Given the description of an element on the screen output the (x, y) to click on. 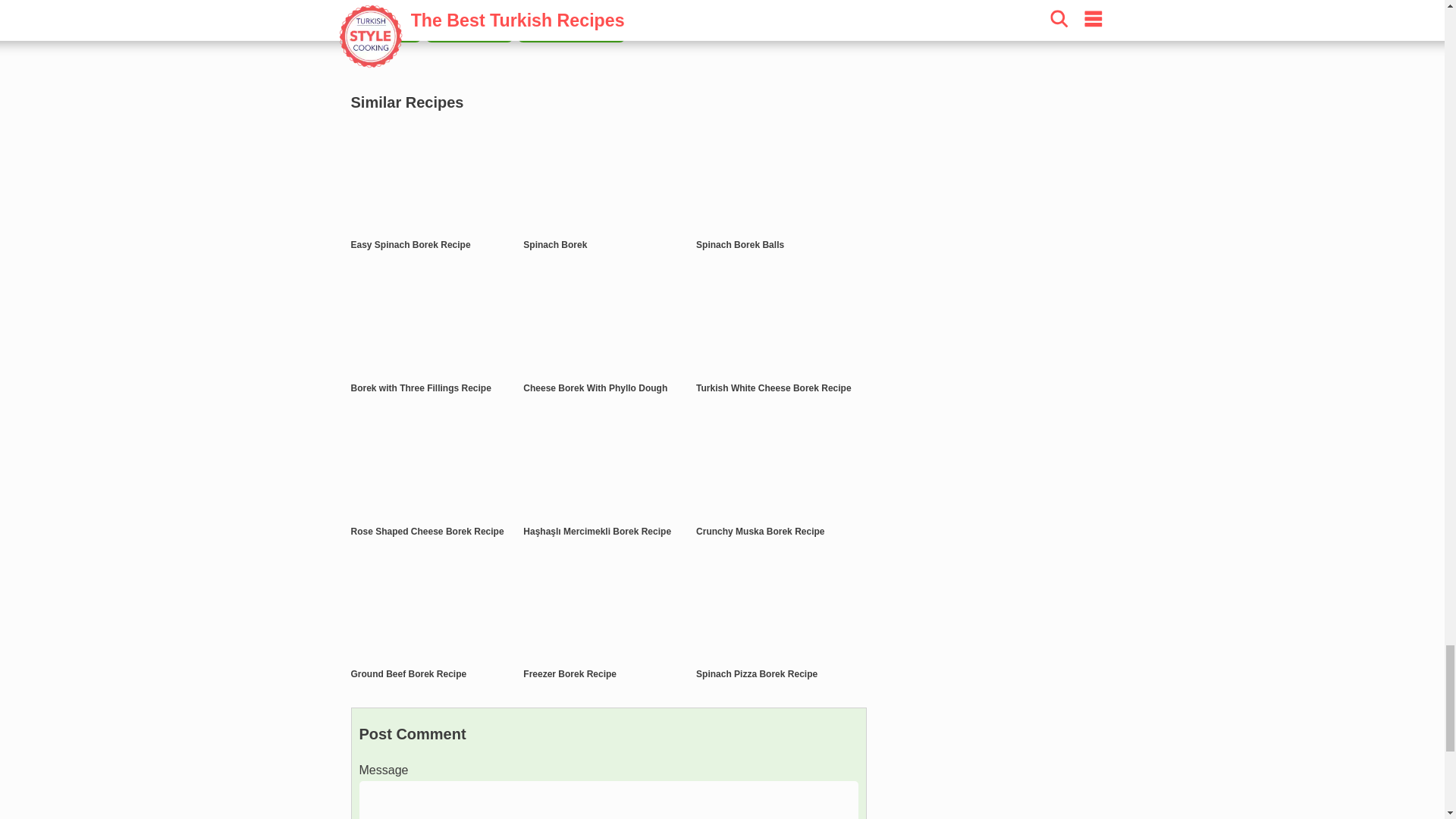
spinach recipes (469, 31)
Ground Beef Borek Recipe (407, 674)
Turkish White Cheese Borek Recipe (773, 388)
turkish borek recipe (571, 31)
Freezer Borek Recipe (568, 674)
Borek with Three Fillings Recipe (420, 388)
Easy Spinach Borek Recipe (410, 244)
Spinach Borek Balls (739, 244)
Spinach Pizza Borek Recipe (755, 674)
borek recipe (385, 31)
Rose Shaped Cheese Borek Recipe (426, 531)
Cheese Borek With Phyllo Dough (594, 388)
Crunchy Muska Borek Recipe (759, 531)
Spinach Borek (554, 244)
